Given the description of an element on the screen output the (x, y) to click on. 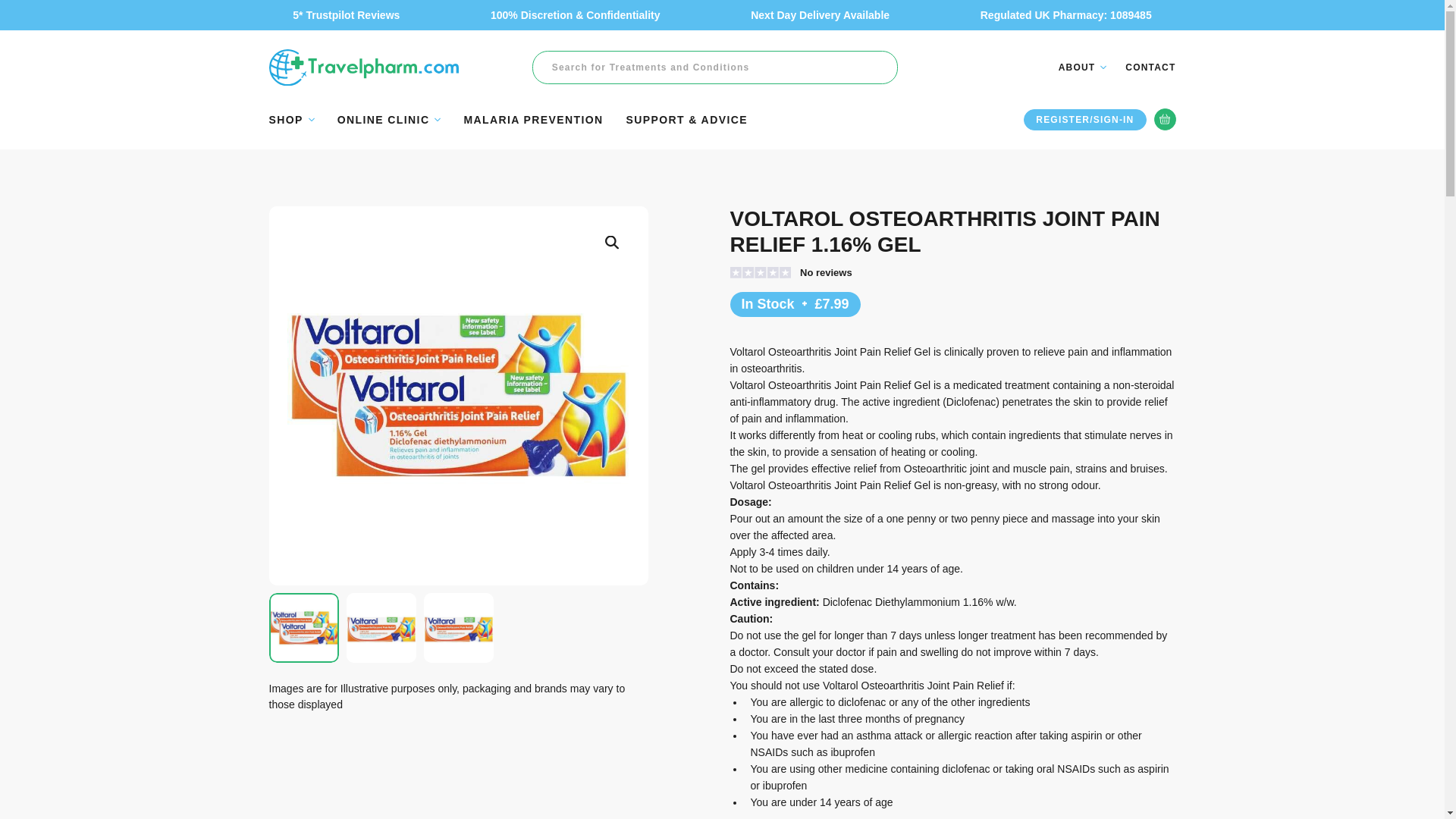
CONTACT (1149, 67)
View basket (1165, 119)
Customer reviews powered by Trustpilot (801, 273)
ABOUT (1082, 67)
SHOP (290, 119)
